Given the description of an element on the screen output the (x, y) to click on. 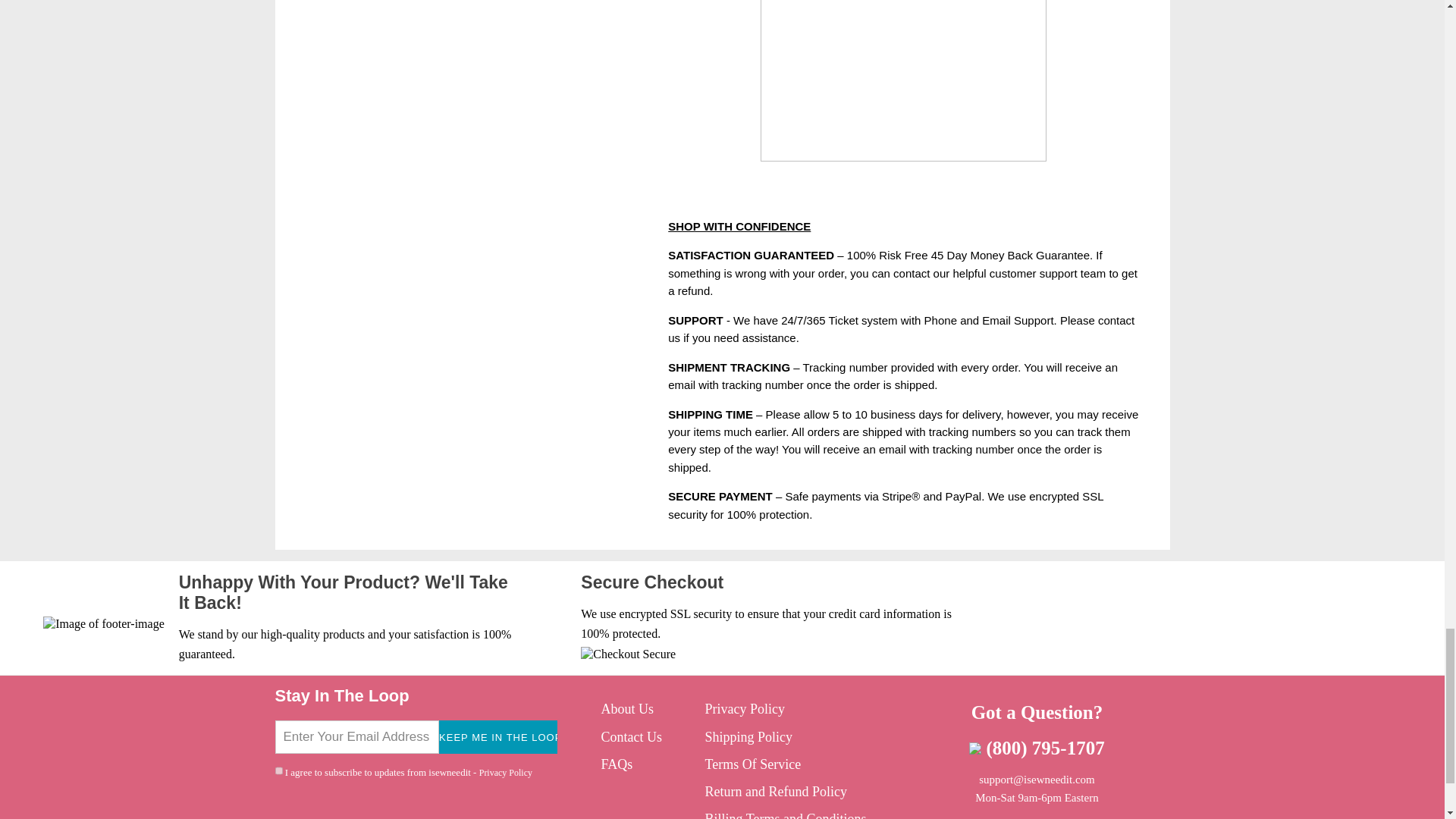
KEEP ME IN THE LOOP (498, 736)
